Given the description of an element on the screen output the (x, y) to click on. 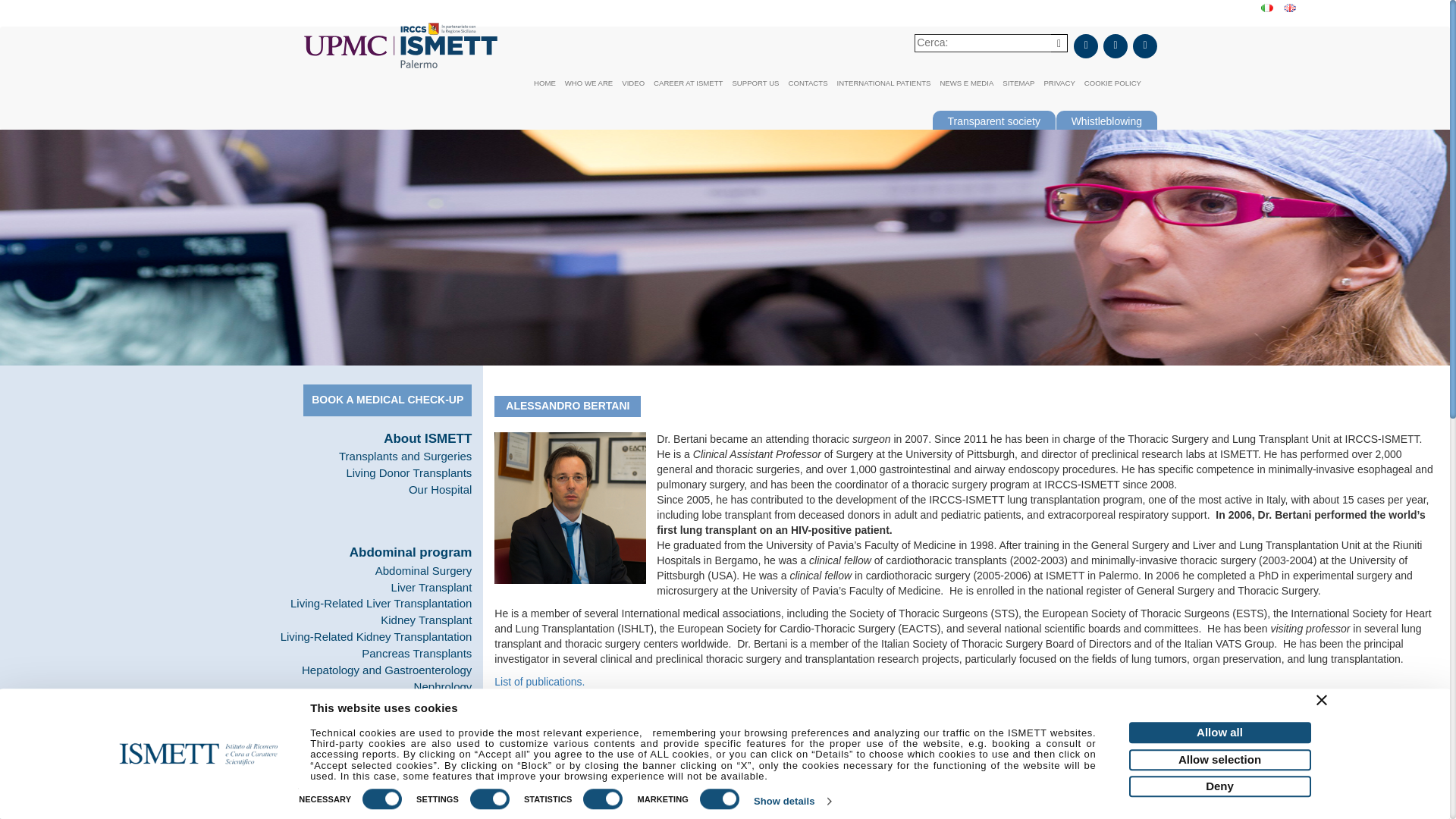
Show details (791, 801)
